Given the description of an element on the screen output the (x, y) to click on. 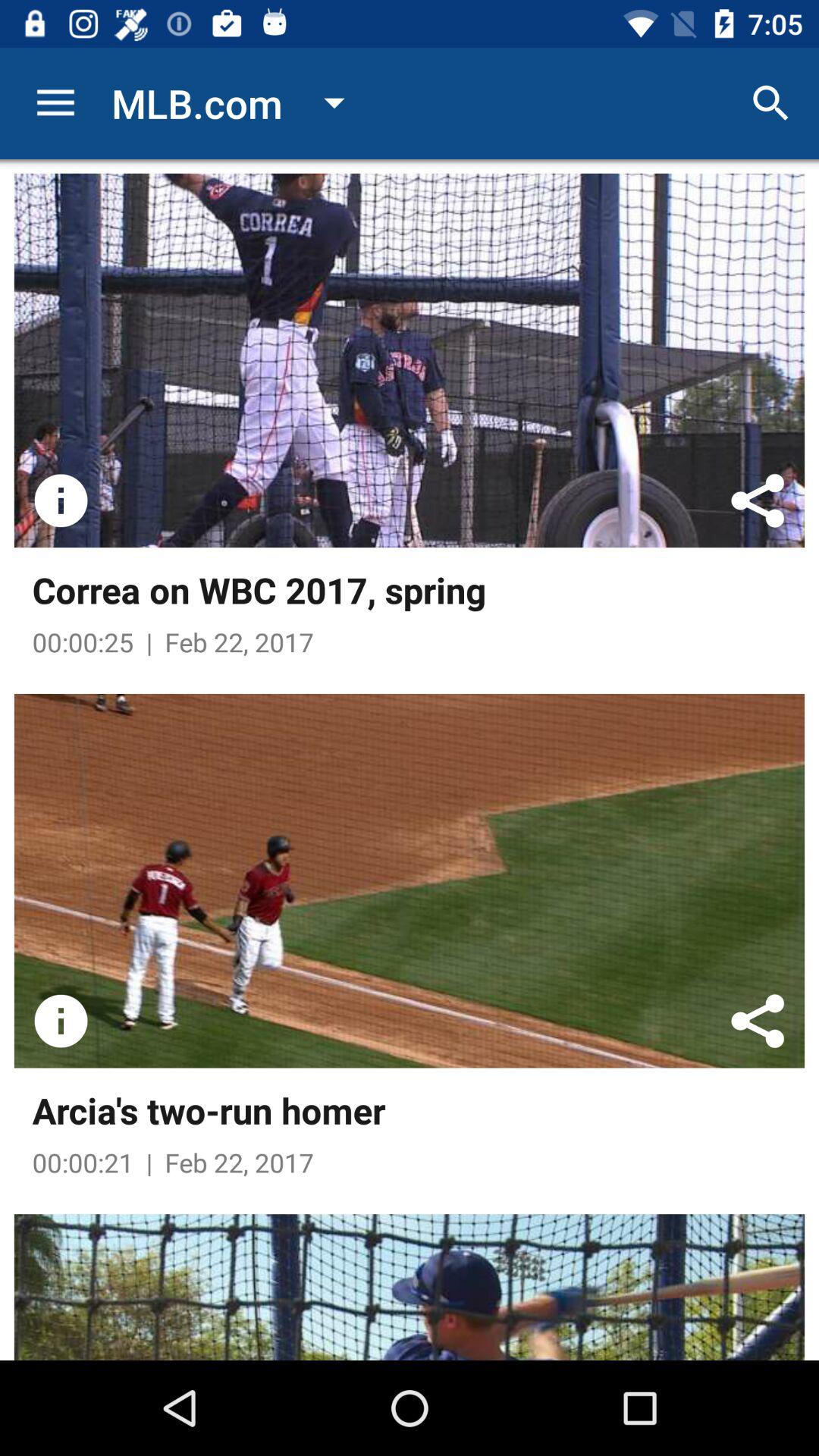
turn on item at the top right corner (771, 103)
